Given the description of an element on the screen output the (x, y) to click on. 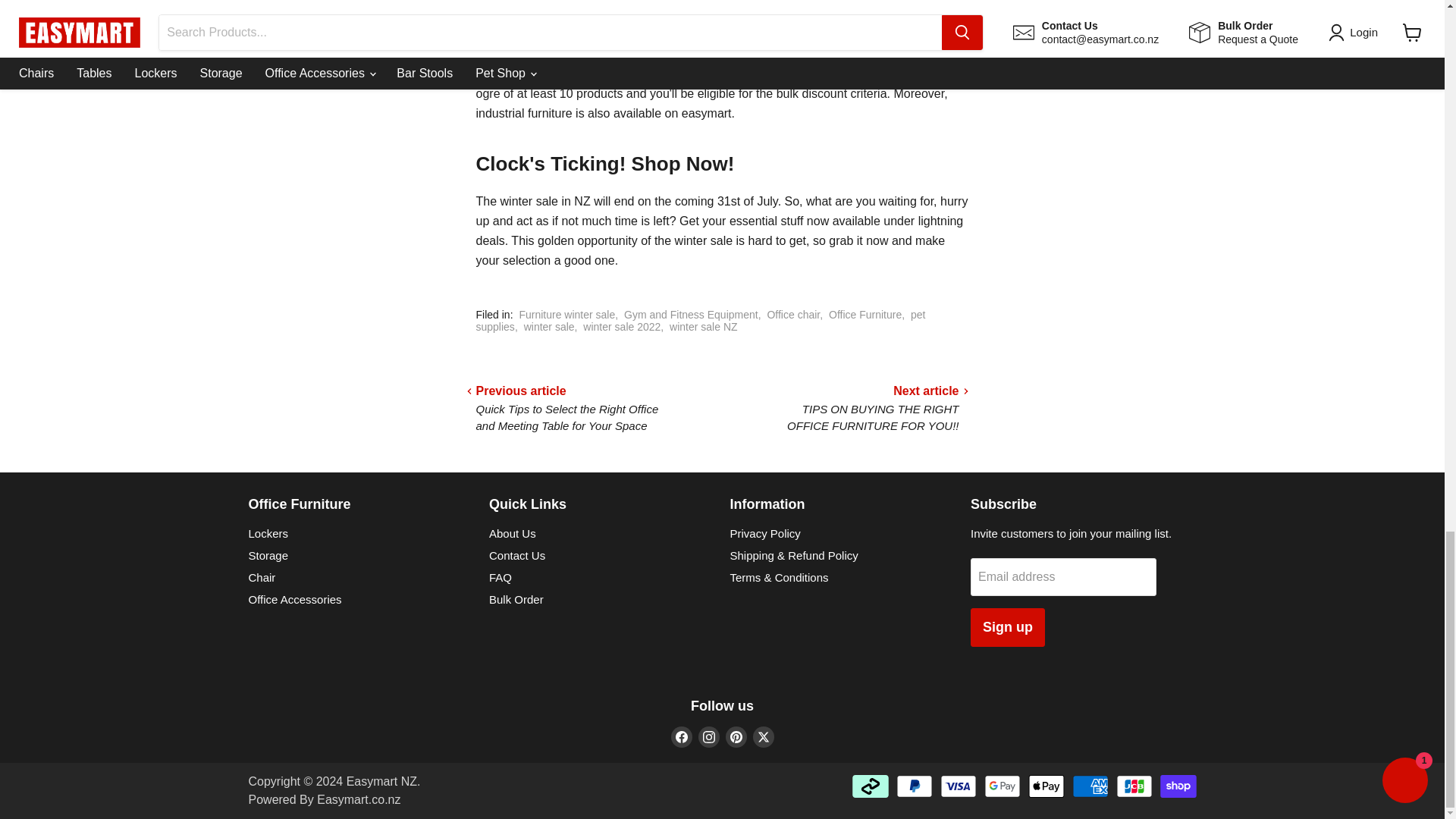
Show articles tagged winter sale (549, 326)
Afterpay (869, 785)
Show articles tagged Furniture winter sale (566, 314)
Bulk Order (749, 73)
Show articles tagged winter sale 2022 (622, 326)
Show articles tagged Office chair (793, 314)
PayPal (914, 785)
Visa (958, 785)
Show articles tagged Office Furniture (864, 314)
Show articles tagged pet supplies (701, 320)
Show articles tagged Gym and Fitness Equipment (691, 314)
